Given the description of an element on the screen output the (x, y) to click on. 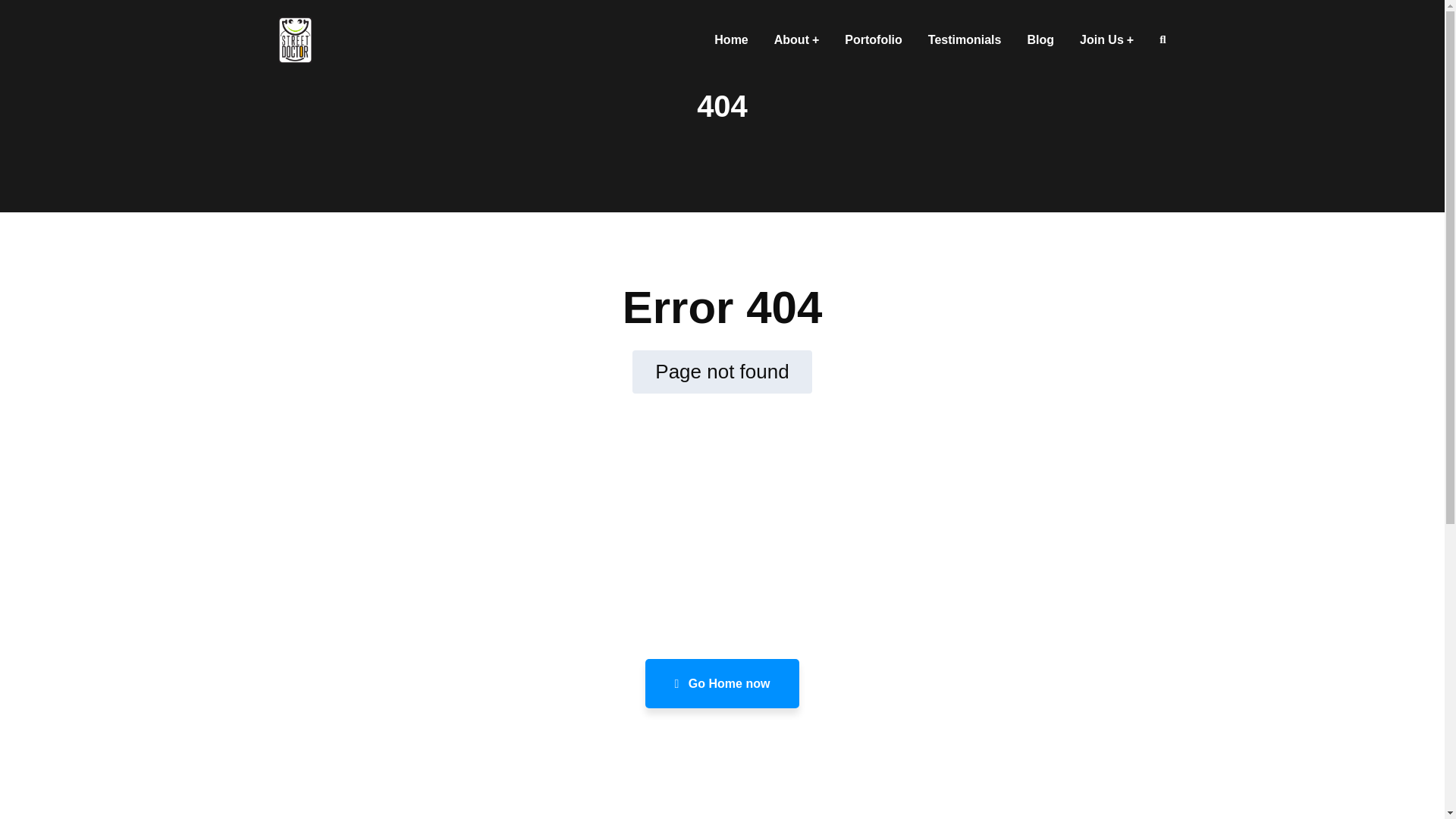
Testimonials (964, 39)
Go Home now (722, 683)
